Given the description of an element on the screen output the (x, y) to click on. 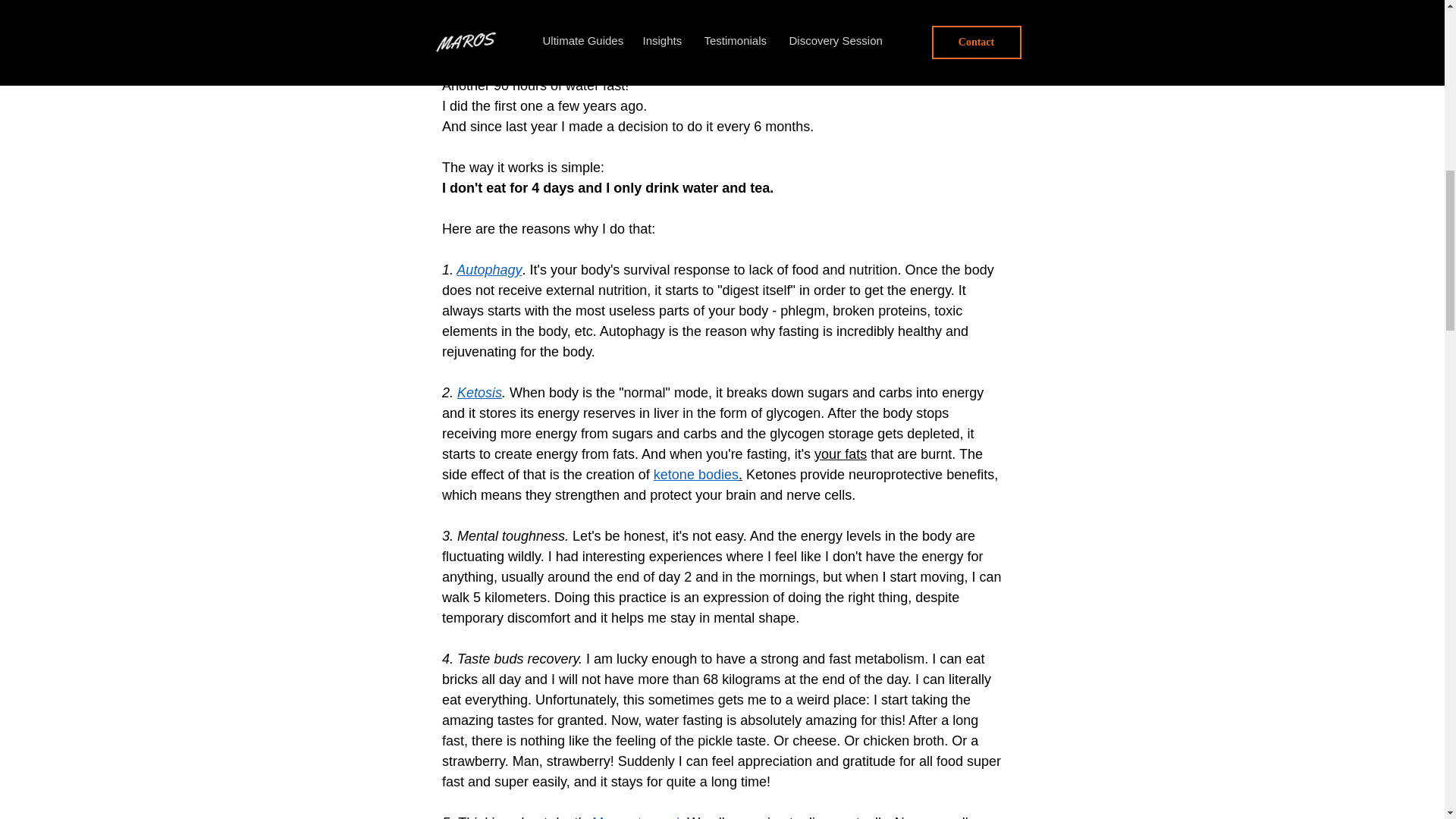
Autophagy (489, 269)
ketone bodies (695, 474)
Memento mori (635, 816)
Ketosis (479, 392)
